Given the description of an element on the screen output the (x, y) to click on. 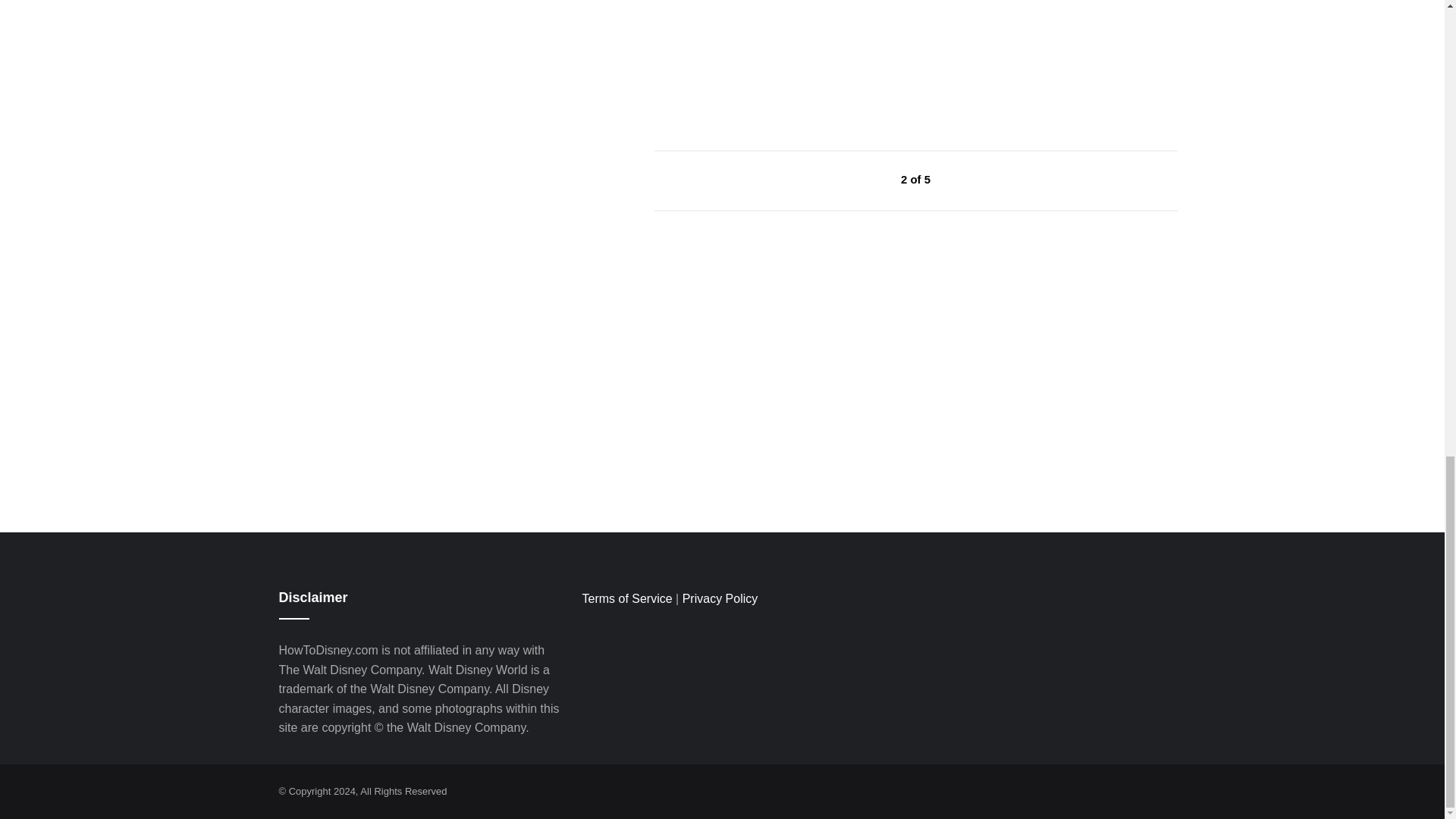
right (966, 178)
Advertisement (766, 43)
Left (866, 178)
Privacy Policy (720, 598)
Terms of Service (625, 598)
